Given the description of an element on the screen output the (x, y) to click on. 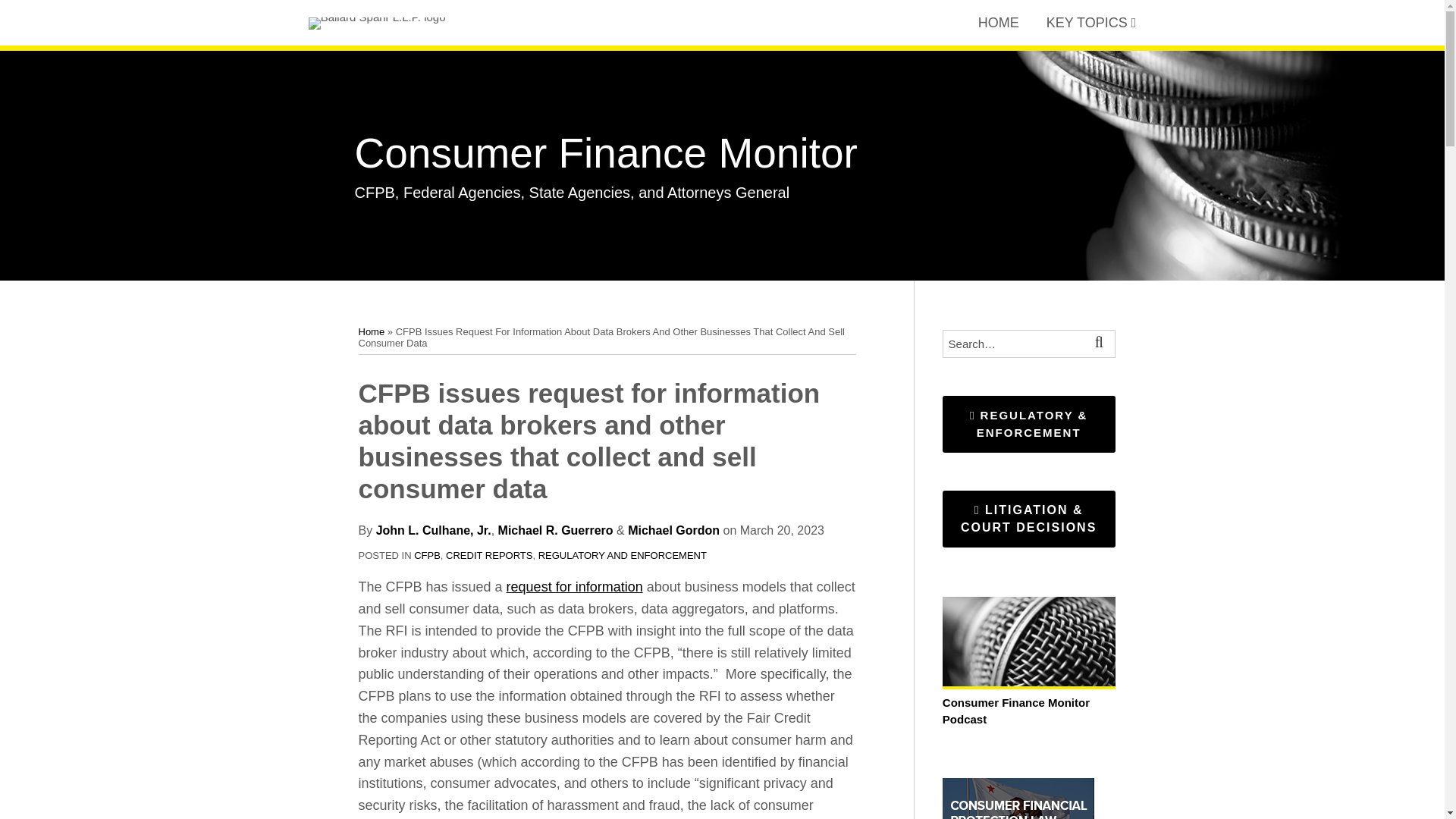
request for information (574, 586)
REGULATORY AND ENFORCEMENT (622, 555)
John L. Culhane, Jr. (433, 530)
CREDIT REPORTS (488, 555)
Consumer Finance Monitor Podcast (1028, 701)
Home (371, 331)
Michael R. Guerrero (554, 530)
Consumer Finance Monitor (606, 152)
Michael Gordon (673, 530)
KEY TOPICS (1086, 22)
CFPB (427, 555)
SEARCH (1101, 343)
HOME (998, 22)
